Given the description of an element on the screen output the (x, y) to click on. 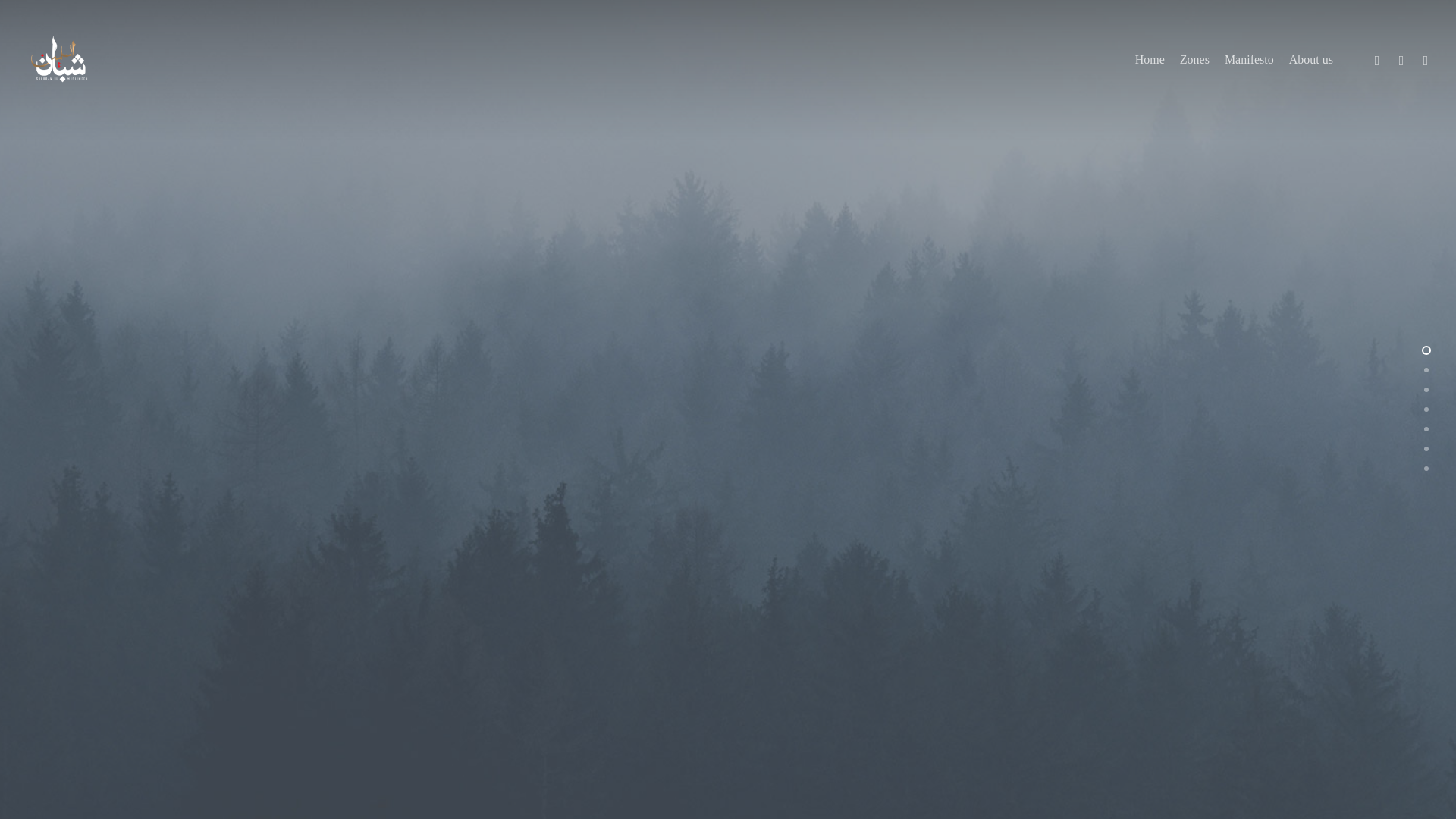
facebook (1401, 59)
google-plus (1425, 59)
About us (1310, 59)
Manifesto (1249, 59)
Menu (1426, 7)
Home (1149, 59)
twitter (1376, 59)
Zones (1194, 59)
